Given the description of an element on the screen output the (x, y) to click on. 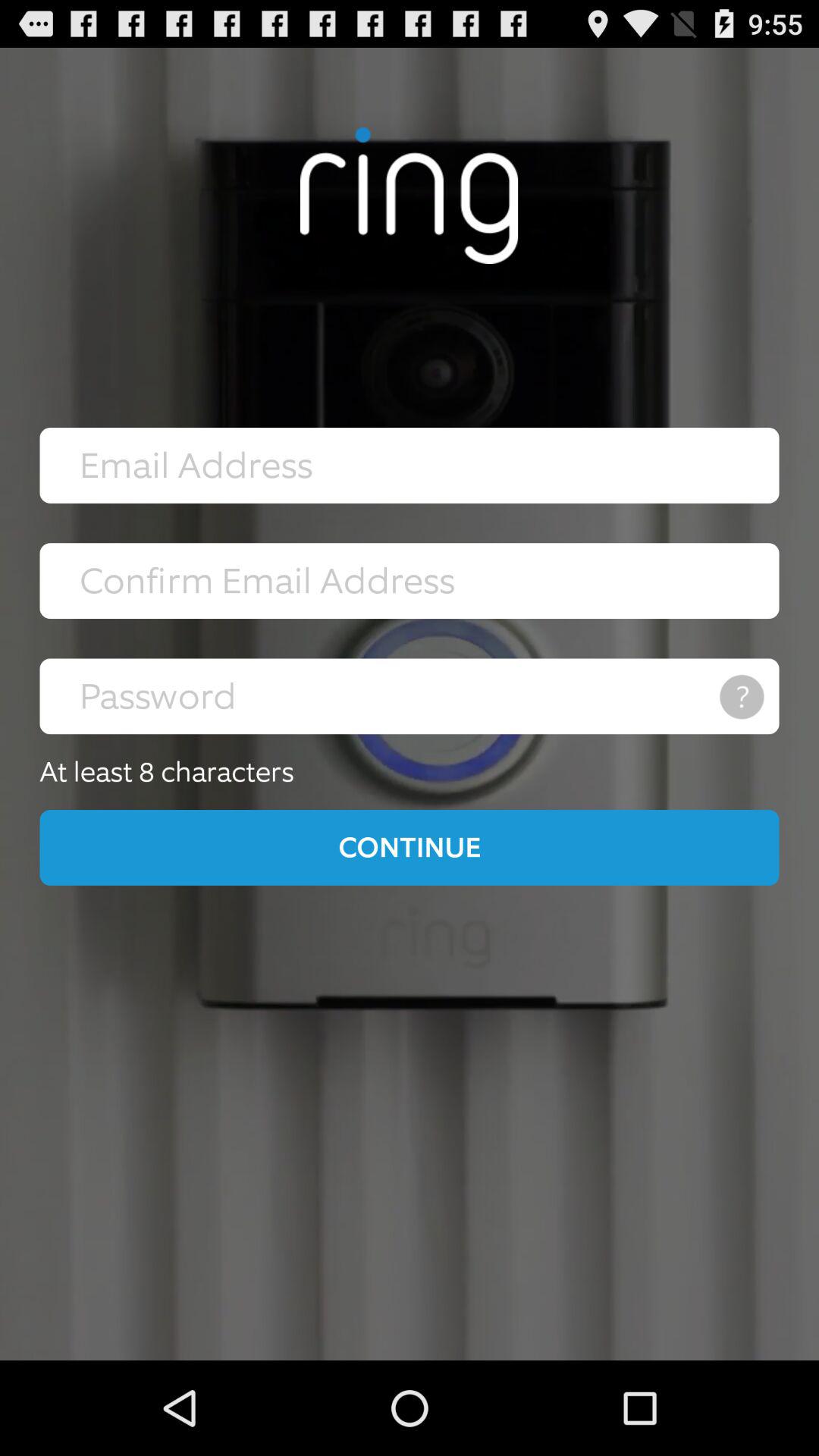
select icon below at least 8 icon (409, 847)
